Given the description of an element on the screen output the (x, y) to click on. 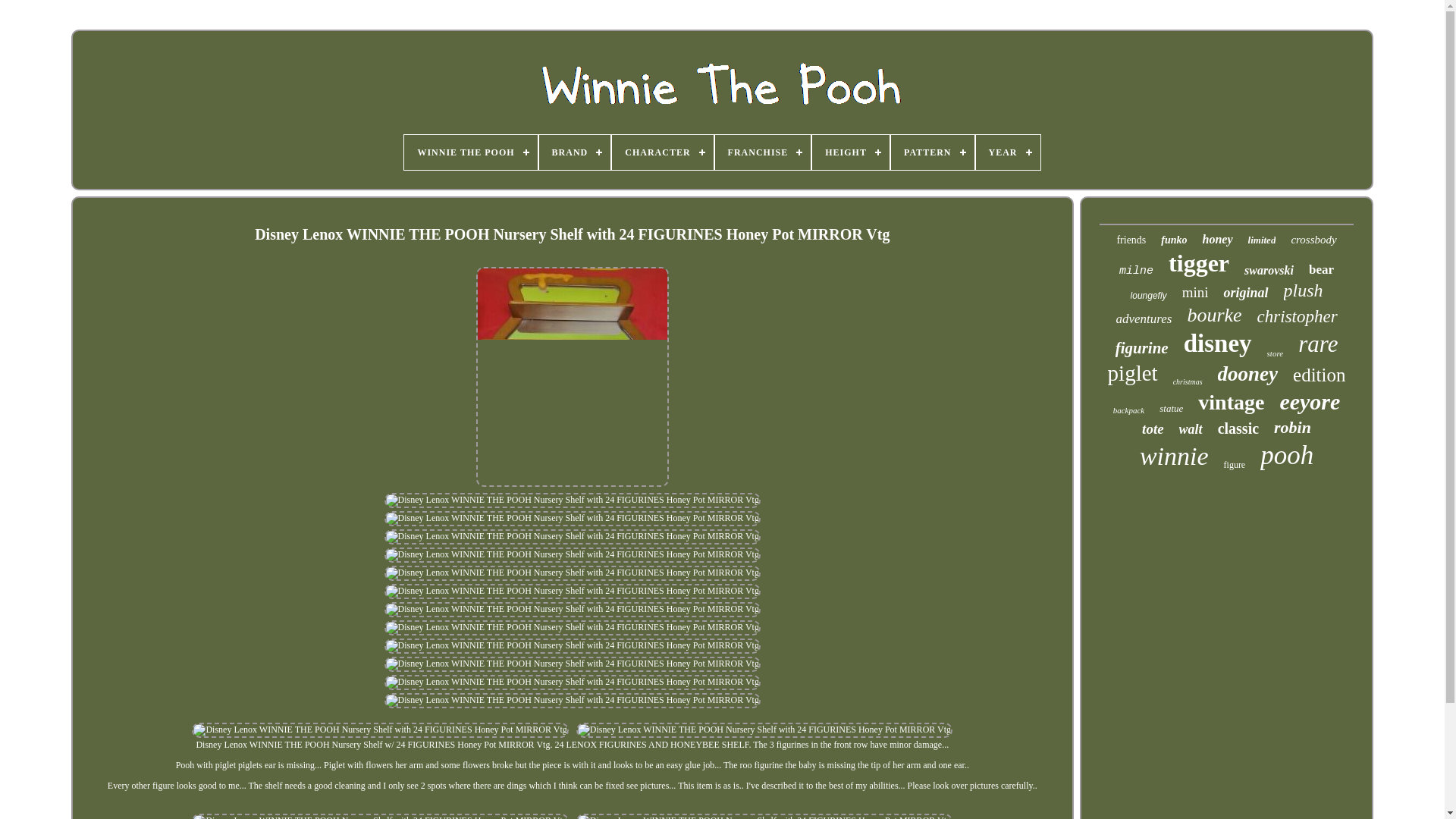
WINNIE THE POOH (470, 152)
BRAND (574, 152)
